Given the description of an element on the screen output the (x, y) to click on. 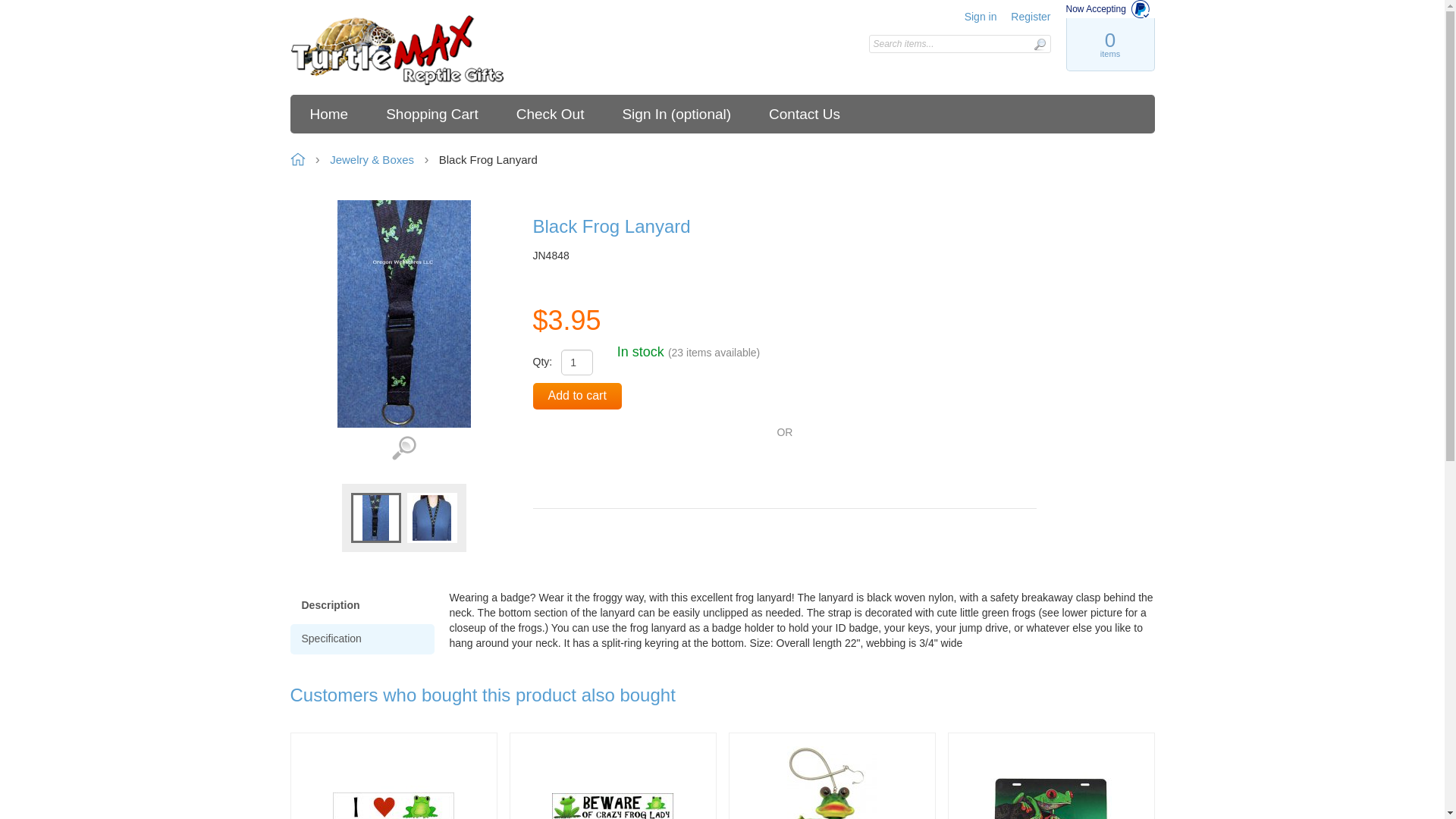
Home (397, 50)
Your cart (1109, 44)
1 (576, 362)
Now Accepting PayPal (1109, 9)
Search (1039, 43)
Quantity (576, 362)
